Given the description of an element on the screen output the (x, y) to click on. 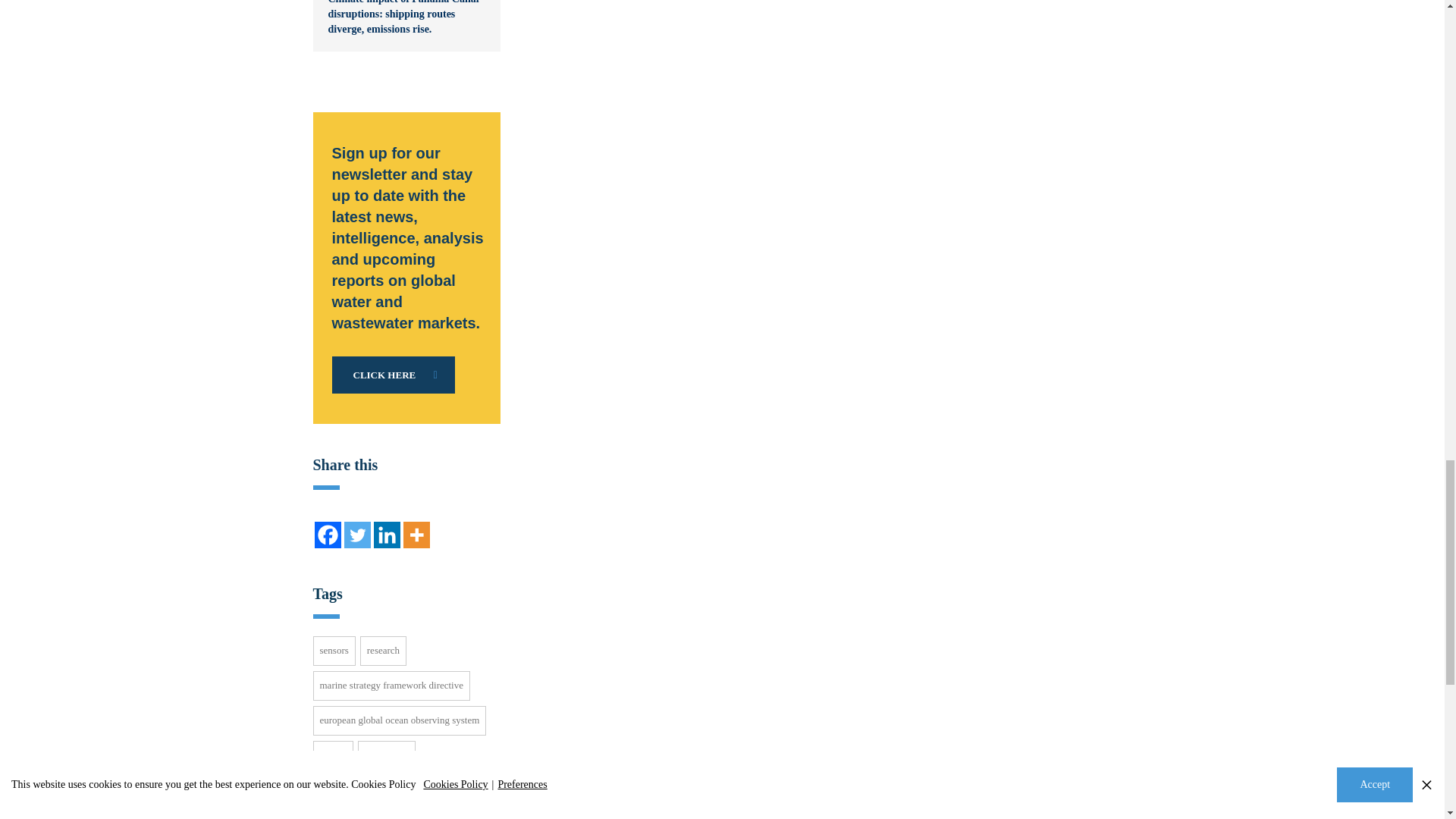
Twitter (357, 534)
More (416, 534)
Linkedin (385, 534)
Facebook (327, 534)
